Given the description of an element on the screen output the (x, y) to click on. 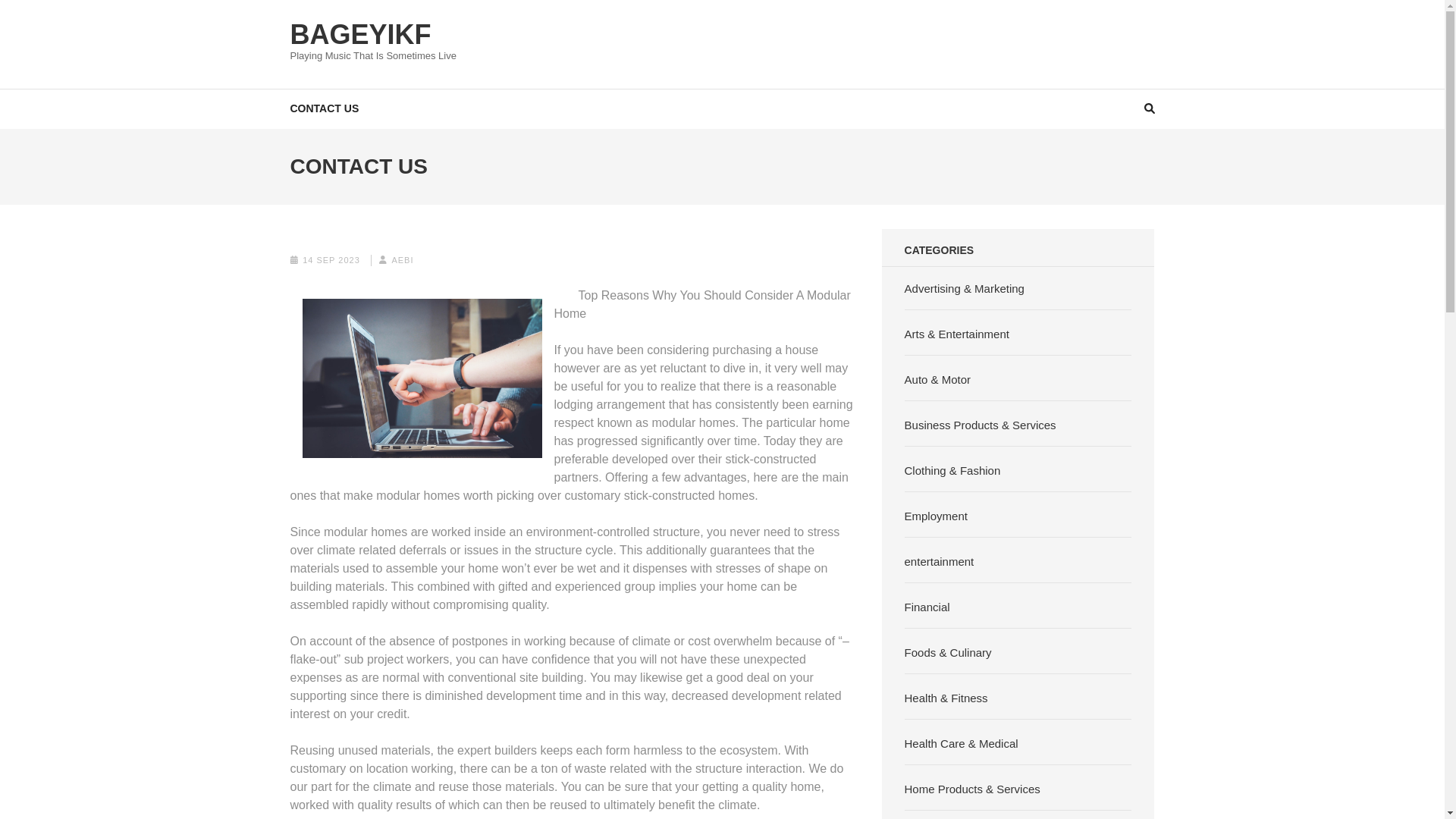
CONTACT US (323, 108)
Financial (927, 606)
entertainment (939, 561)
14 SEP 2023 (330, 258)
BAGEYIKF (359, 33)
Employment (936, 515)
AEBI (402, 258)
